Given the description of an element on the screen output the (x, y) to click on. 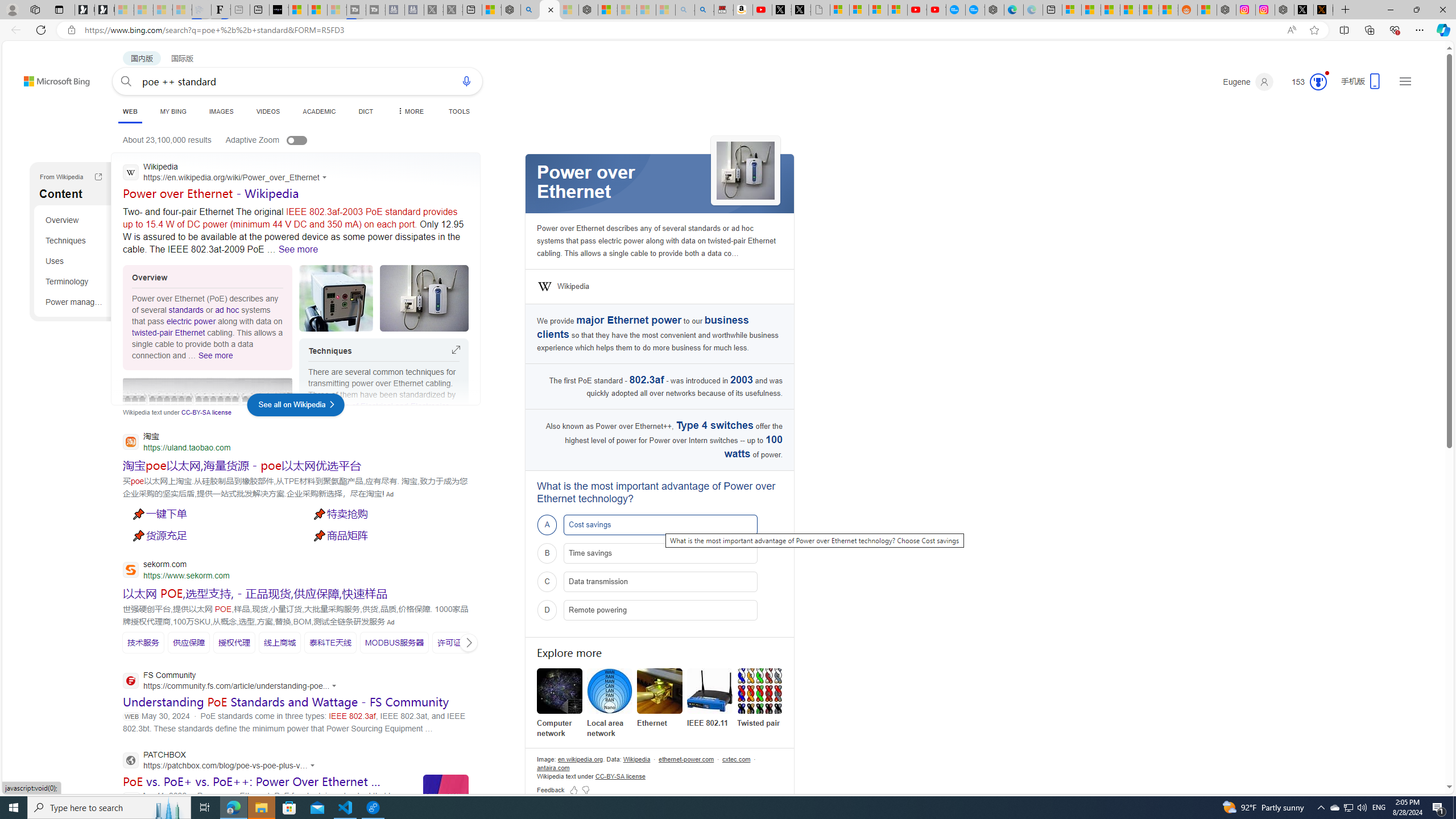
SERP,5931 (393, 642)
Power management features and integration image (207, 399)
MY BING (172, 111)
SERP,5926 (143, 642)
poe ++ standard - Search (549, 9)
Explore more Local area network (608, 703)
Untitled (820, 9)
Power over Ethernet - Wikipedia (210, 192)
poe - Search (529, 9)
